Given the description of an element on the screen output the (x, y) to click on. 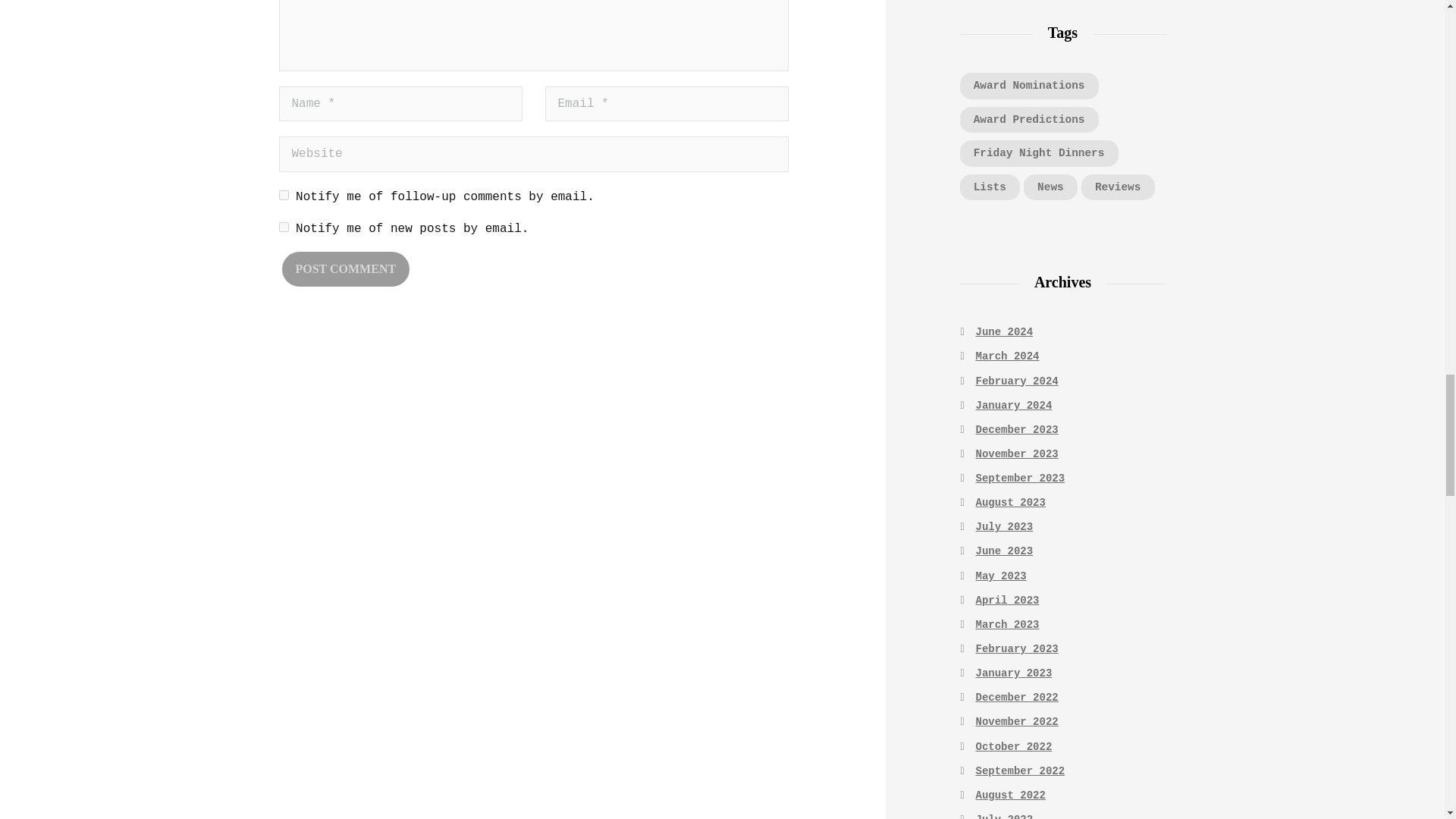
subscribe (283, 226)
subscribe (283, 194)
Post Comment (346, 268)
